Given the description of an element on the screen output the (x, y) to click on. 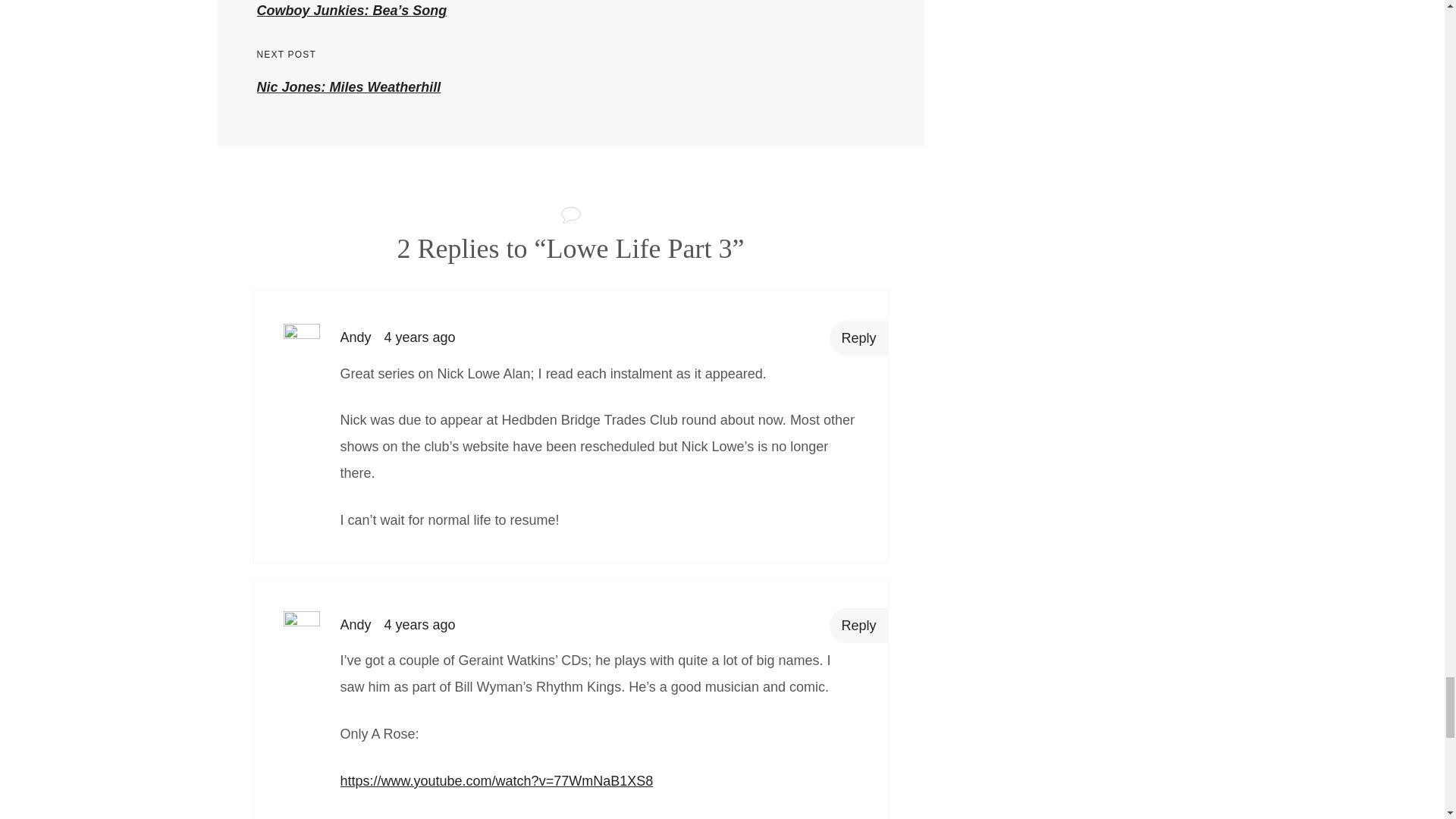
4 years ago (569, 71)
4 years ago (419, 337)
Reply (419, 624)
Reply (857, 625)
